Given the description of an element on the screen output the (x, y) to click on. 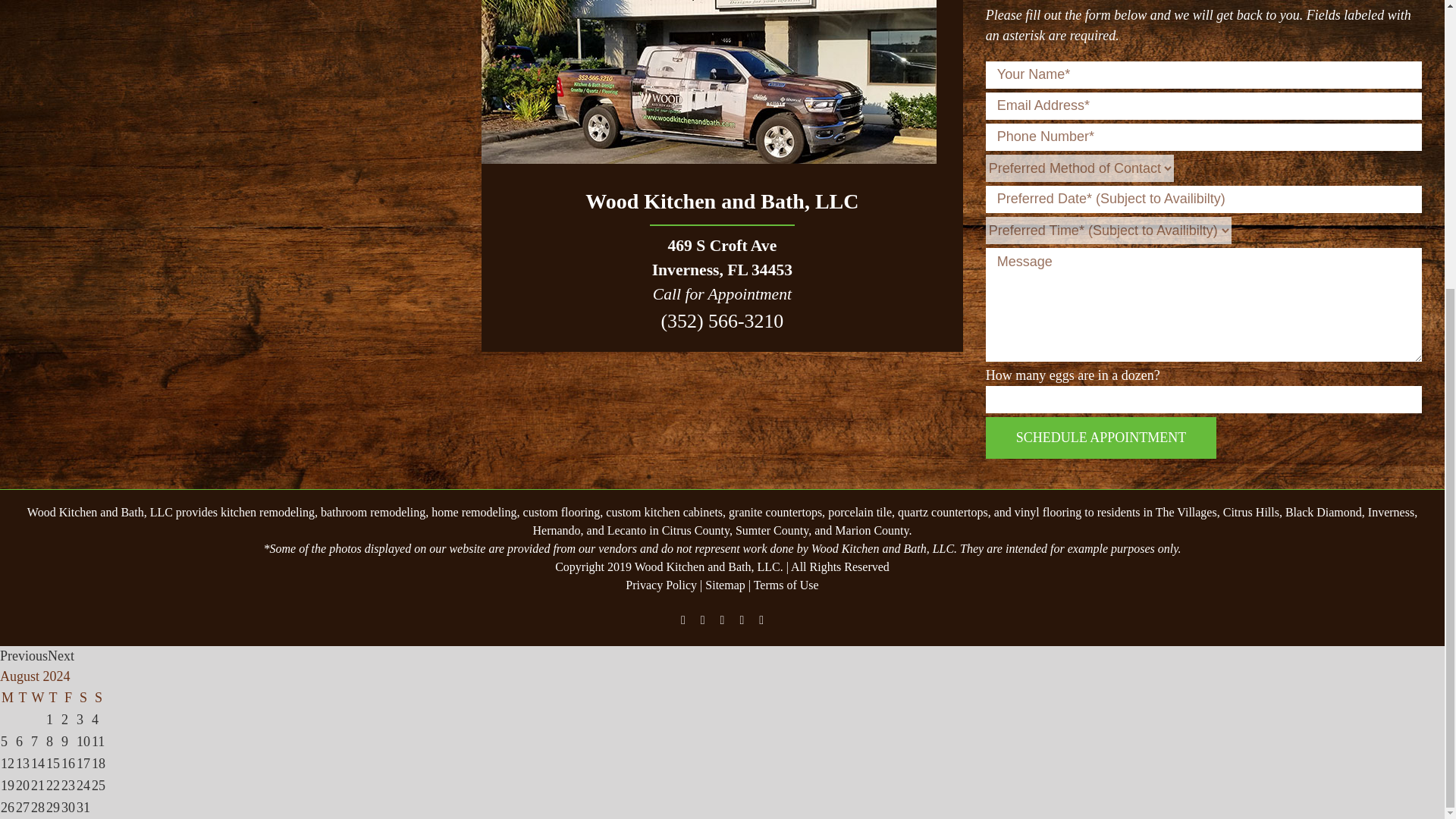
Wood Kitchen and Bath Office (708, 81)
Previous (24, 655)
Next (61, 655)
Schedule Appointment (1101, 437)
